Given the description of an element on the screen output the (x, y) to click on. 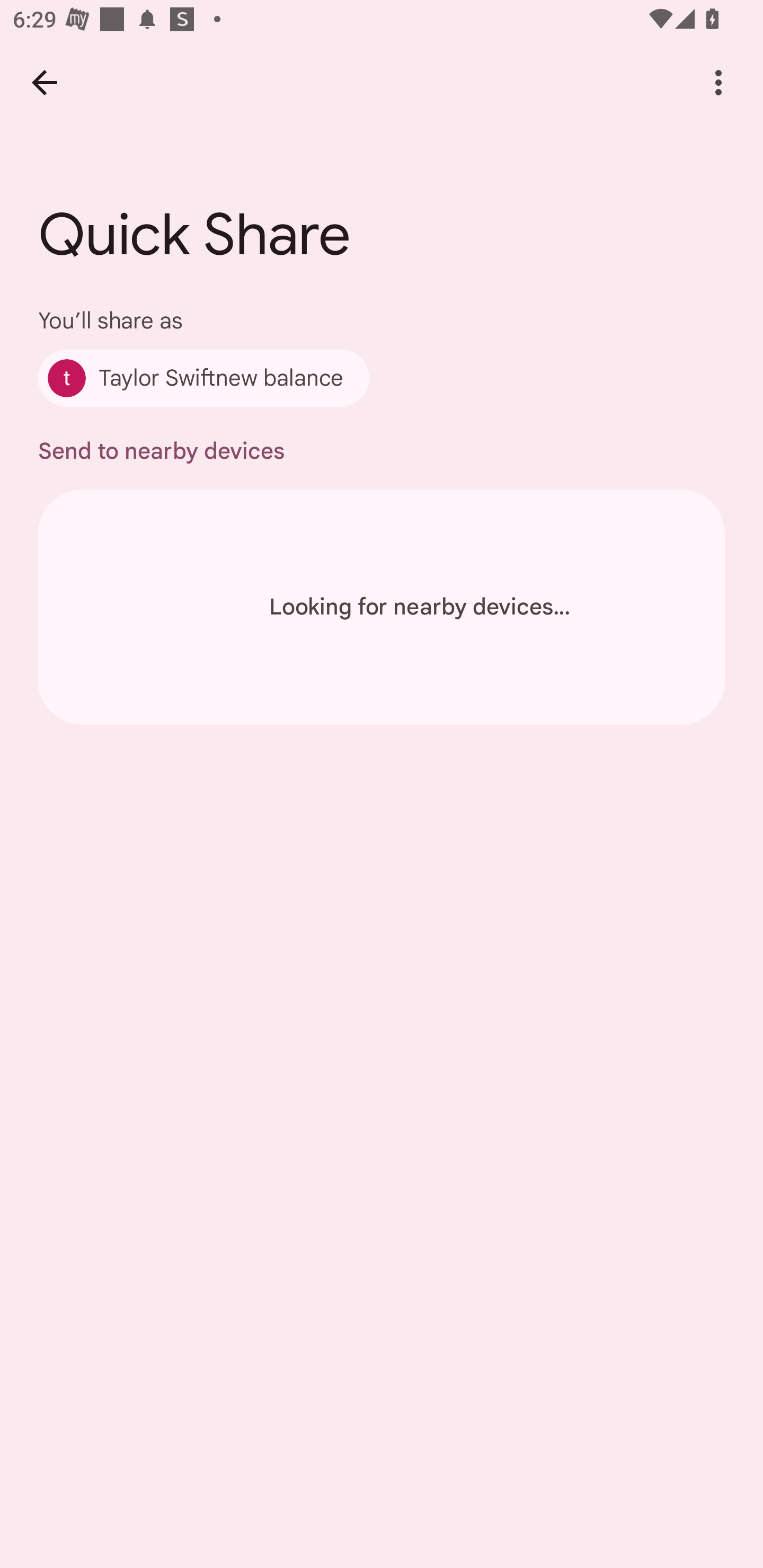
Back (44, 81)
More (718, 81)
Taylor Swiftnew balance (203, 378)
